Given the description of an element on the screen output the (x, y) to click on. 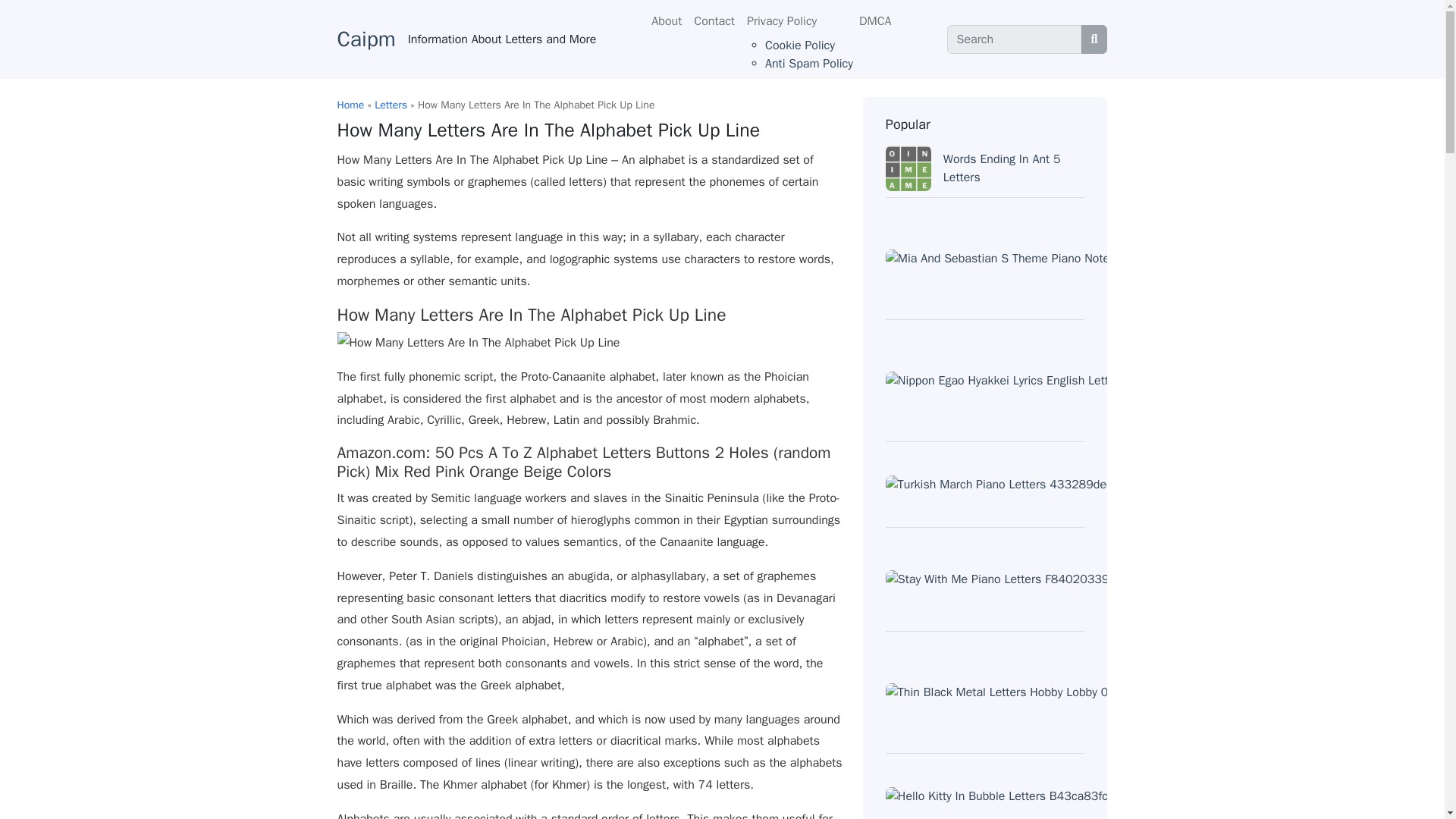
Search (1014, 39)
Anti Spam Policy (809, 63)
About (666, 20)
Words Ending In Ant 5 Letters (1002, 168)
Letters (390, 104)
Contact (714, 20)
Caipm (365, 39)
Cookie Policy (799, 45)
Home (350, 104)
Caipm (365, 39)
